Given the description of an element on the screen output the (x, y) to click on. 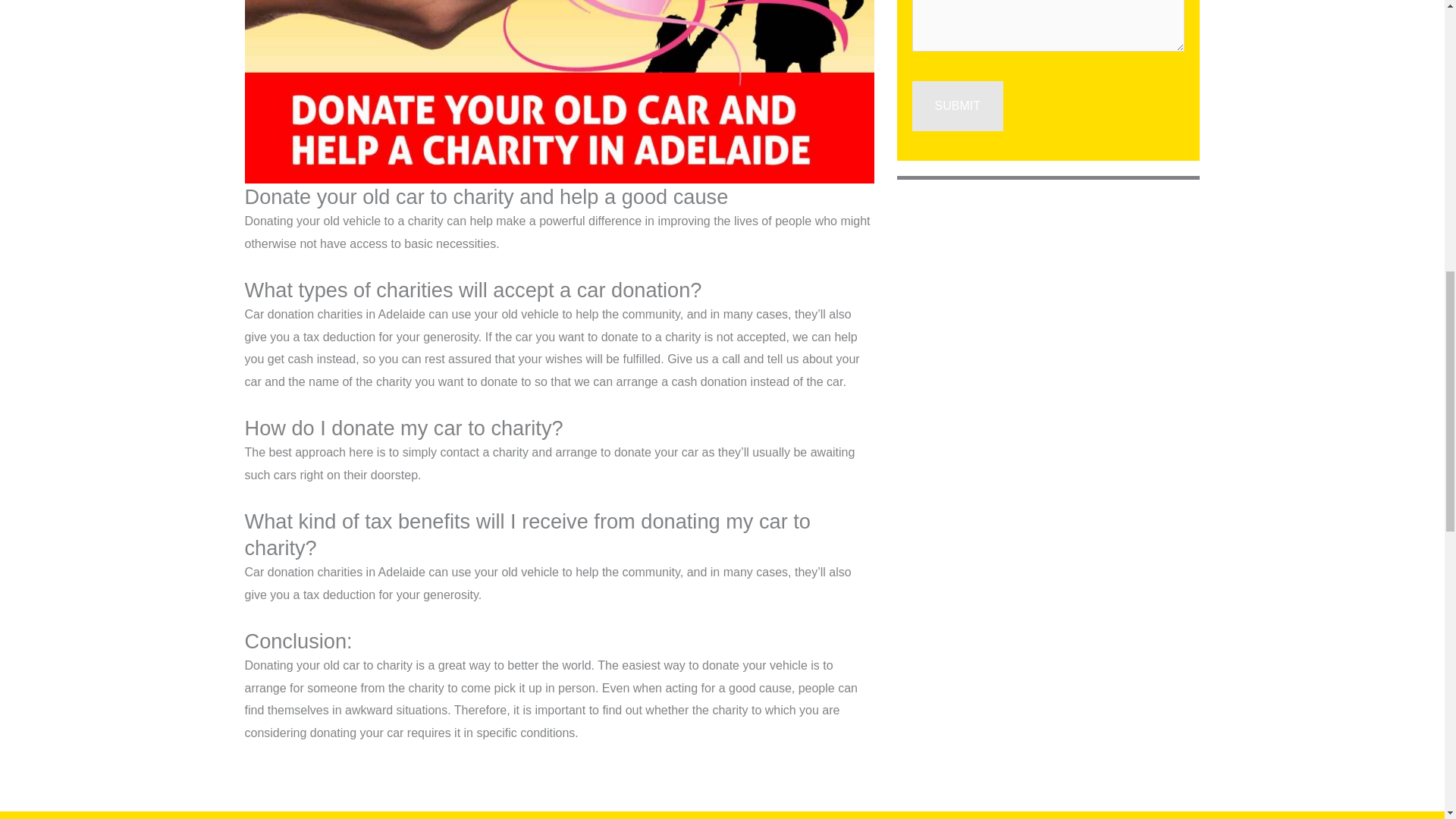
Submit (957, 106)
Submit (957, 106)
